Given the description of an element on the screen output the (x, y) to click on. 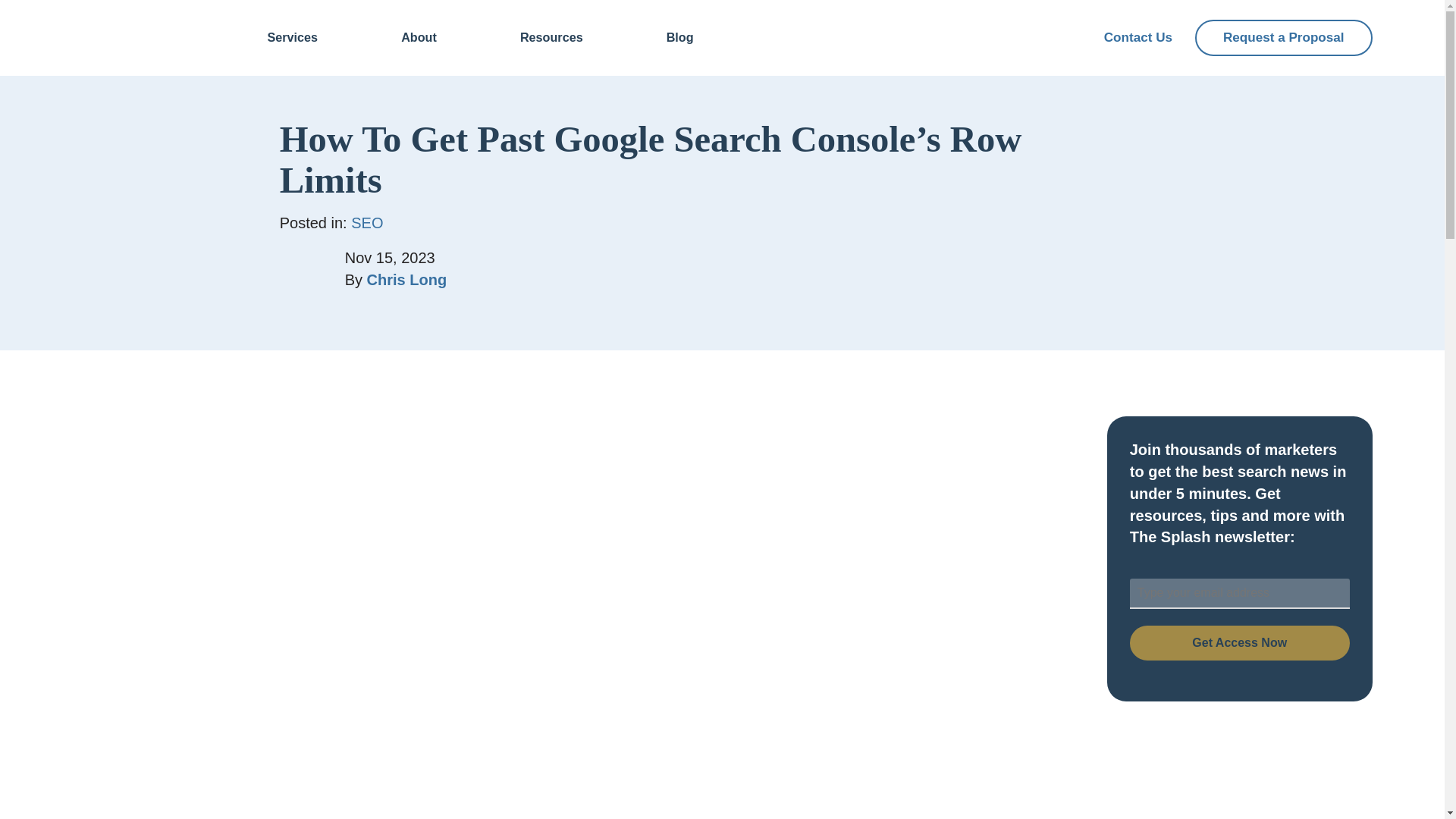
Services (293, 37)
About (419, 37)
Get Access Now (1239, 642)
